Given the description of an element on the screen output the (x, y) to click on. 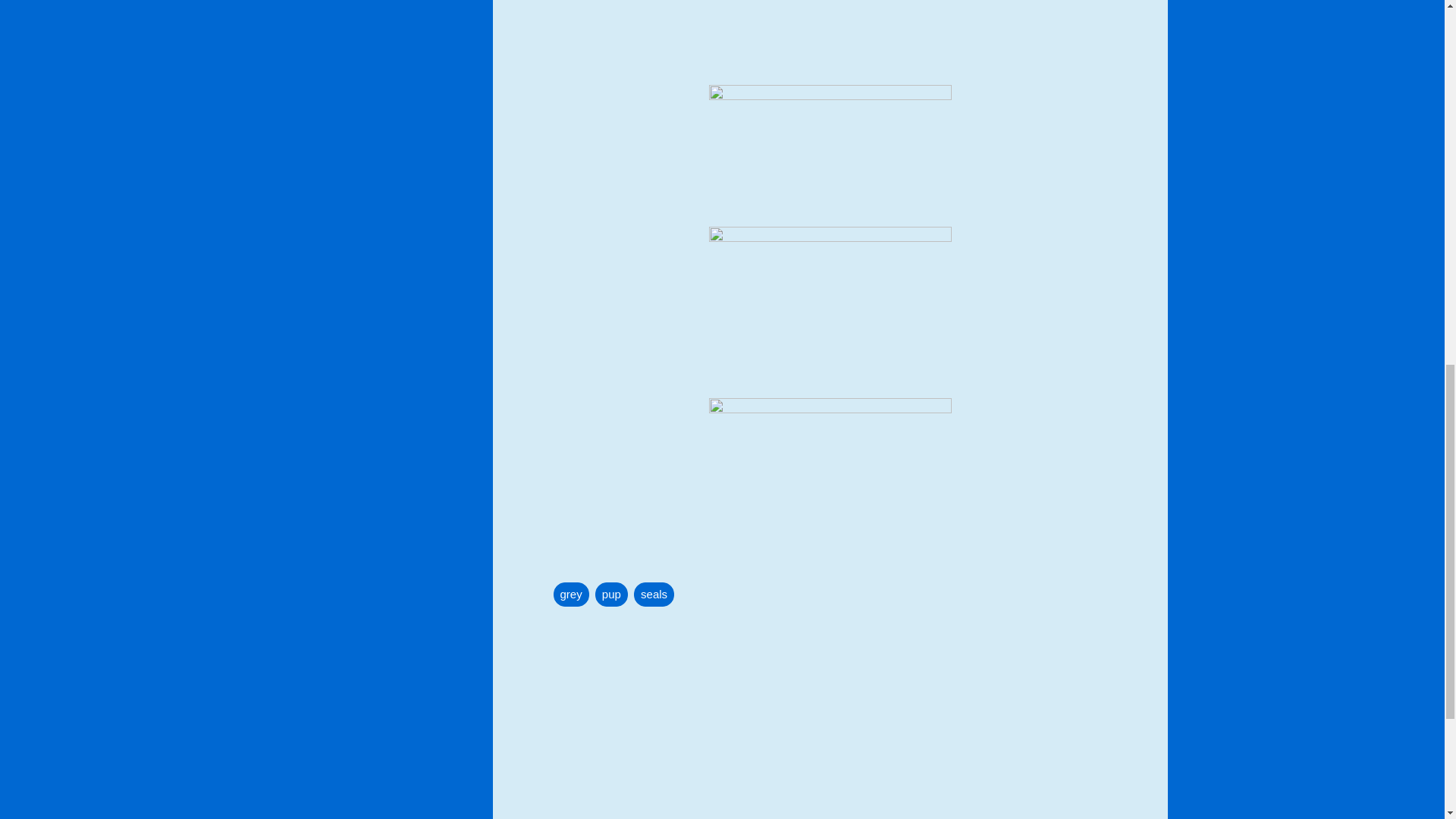
grey (571, 594)
seals (653, 594)
pup (611, 594)
